Given the description of an element on the screen output the (x, y) to click on. 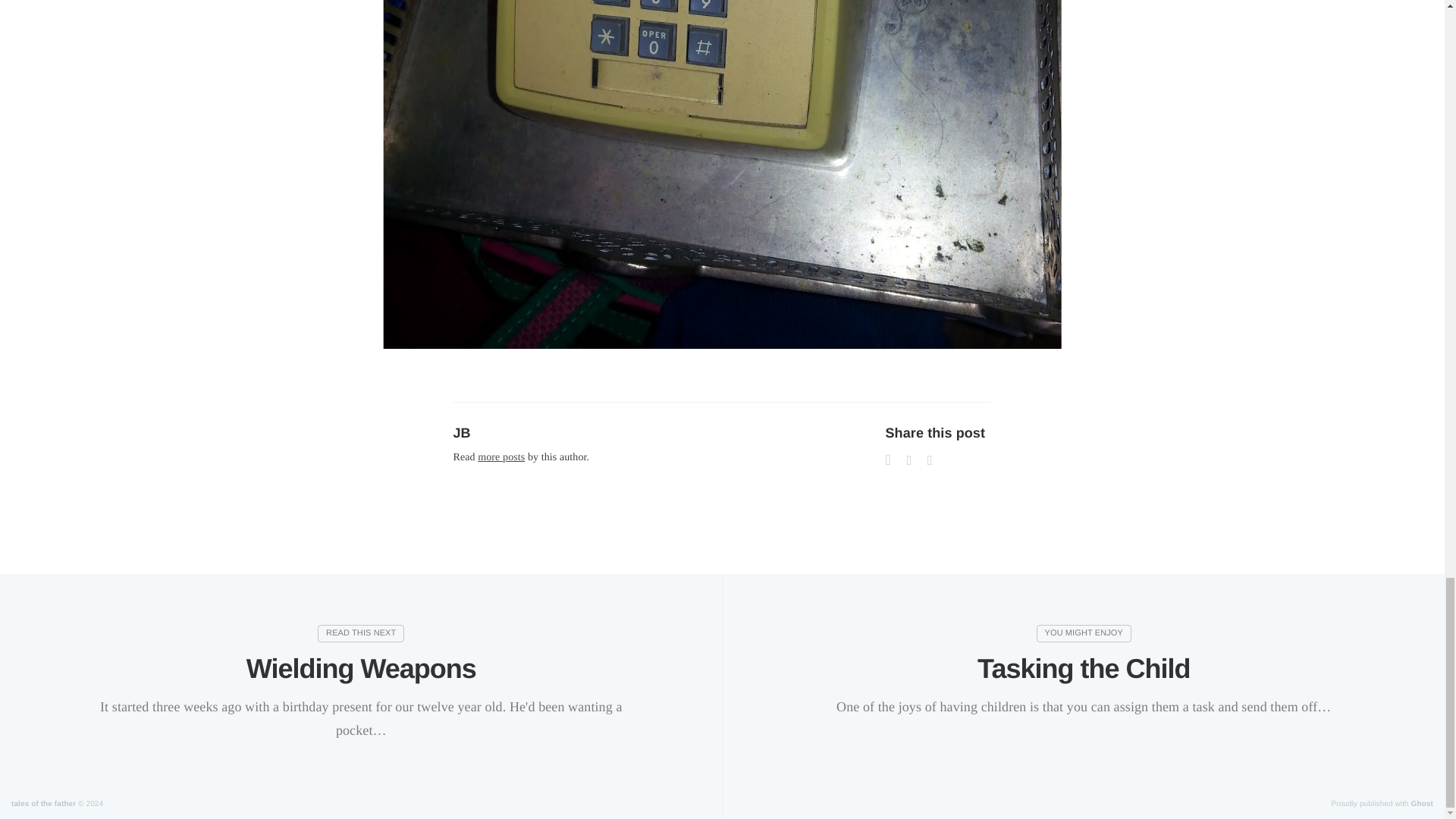
more posts (500, 457)
Ghost (1421, 804)
JB (461, 432)
tales of the father (43, 804)
